Given the description of an element on the screen output the (x, y) to click on. 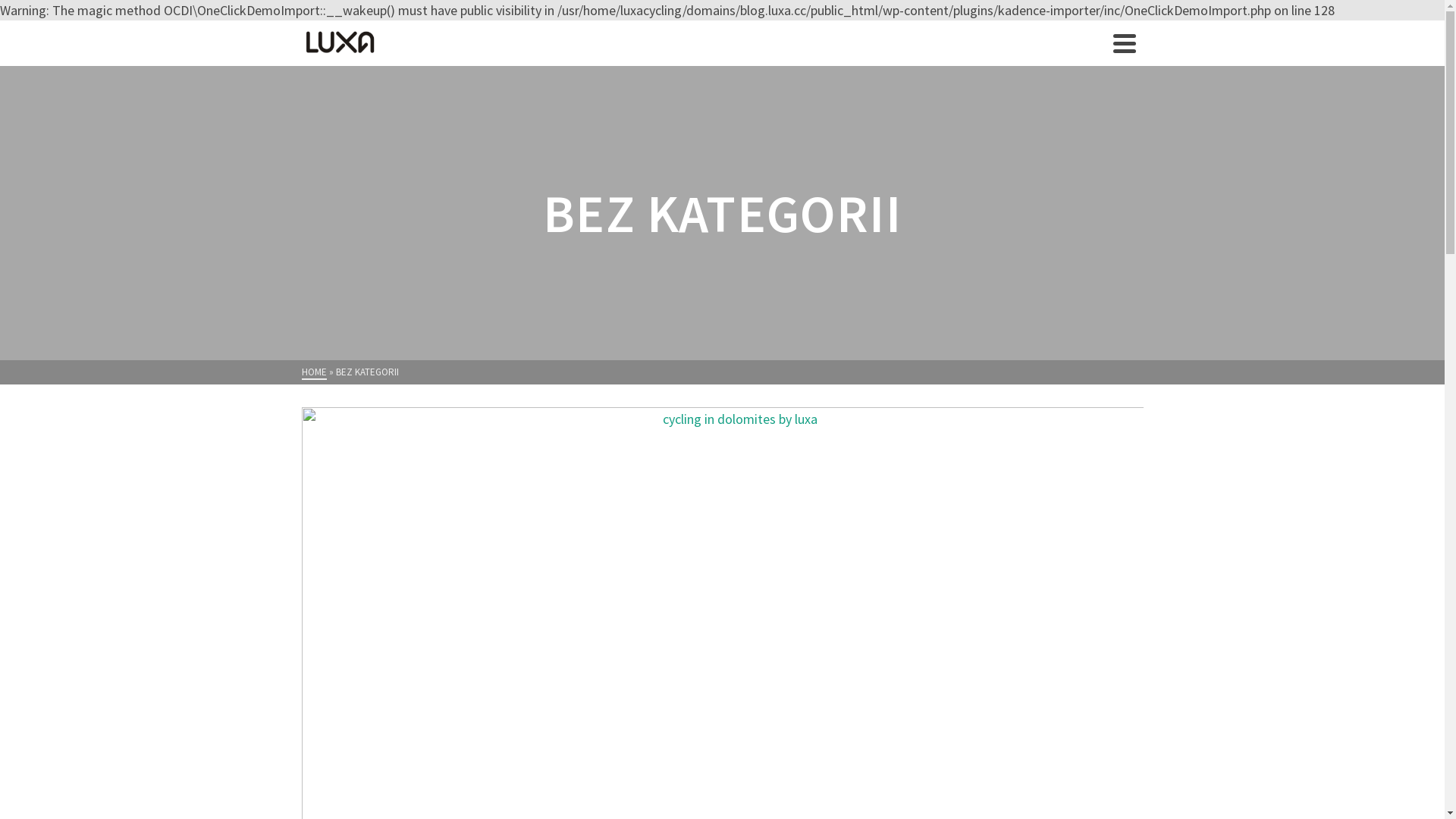
HOME Element type: text (313, 372)
